Given the description of an element on the screen output the (x, y) to click on. 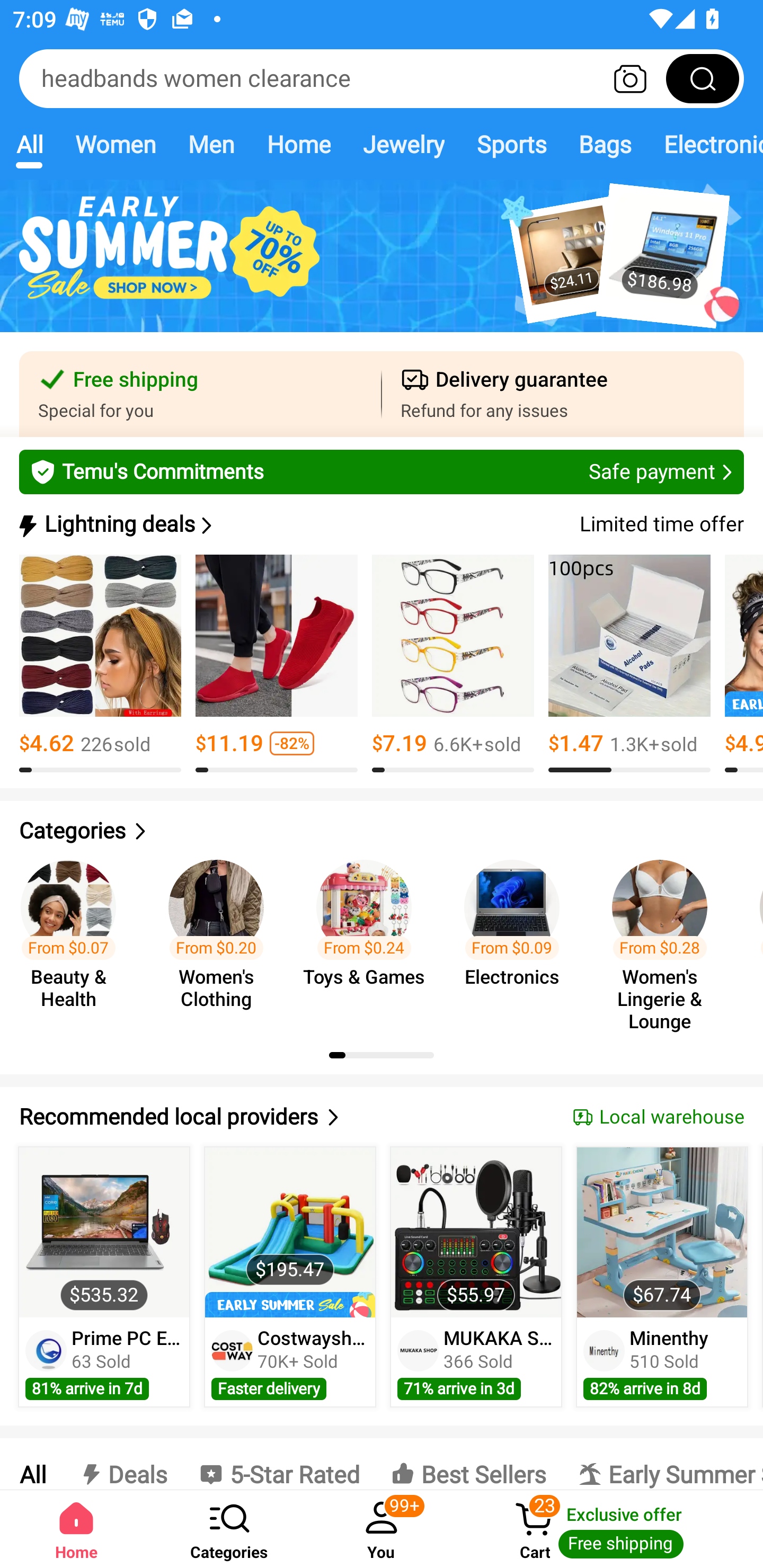
headbands women clearance (381, 78)
All (29, 144)
Women (115, 144)
Men (211, 144)
Home (298, 144)
Jewelry (403, 144)
Sports (511, 144)
Bags (605, 144)
Electronics (705, 144)
$24.11 $186.98 (381, 265)
Free shipping Special for you (200, 394)
Delivery guarantee Refund for any issues (562, 394)
Temu's Commitments (381, 471)
Lightning deals Lightning deals Limited time offer (379, 524)
$4.62 226￼sold 8.0 (100, 664)
$11.19 -82% 8.0 (276, 664)
$7.19 6.6K+￼sold 8.0 (453, 664)
$1.47 1.3K+￼sold 40.0 (629, 664)
Categories (381, 830)
From $0.07 Beauty & Health (74, 936)
From $0.20 Women's Clothing (222, 936)
From $0.24 Toys & Games (369, 936)
From $0.09 Electronics (517, 936)
From $0.28 Women's Lingerie & Lounge (665, 936)
$535.32 Prime PC Emporium 63 Sold 81% arrive in 7d (103, 1276)
$195.47 Costwayshop 70K+ Sold Faster delivery (289, 1276)
$55.97 MUKAKA SHOP BAN 366 Sold 71% arrive in 3d (475, 1276)
$67.74 Minenthy 510 Sold 82% arrive in 8d (661, 1276)
$535.32 (104, 1232)
$195.47 (290, 1232)
$55.97 (475, 1232)
$67.74 (661, 1232)
All (32, 1463)
Deals Deals Deals (122, 1463)
5-Star Rated 5-Star Rated 5-Star Rated (279, 1463)
Best Sellers Best Sellers Best Sellers (468, 1463)
Home (76, 1528)
Categories (228, 1528)
You ‎99+‎ You (381, 1528)
Cart 23 Cart Exclusive offer (610, 1528)
